Given the description of an element on the screen output the (x, y) to click on. 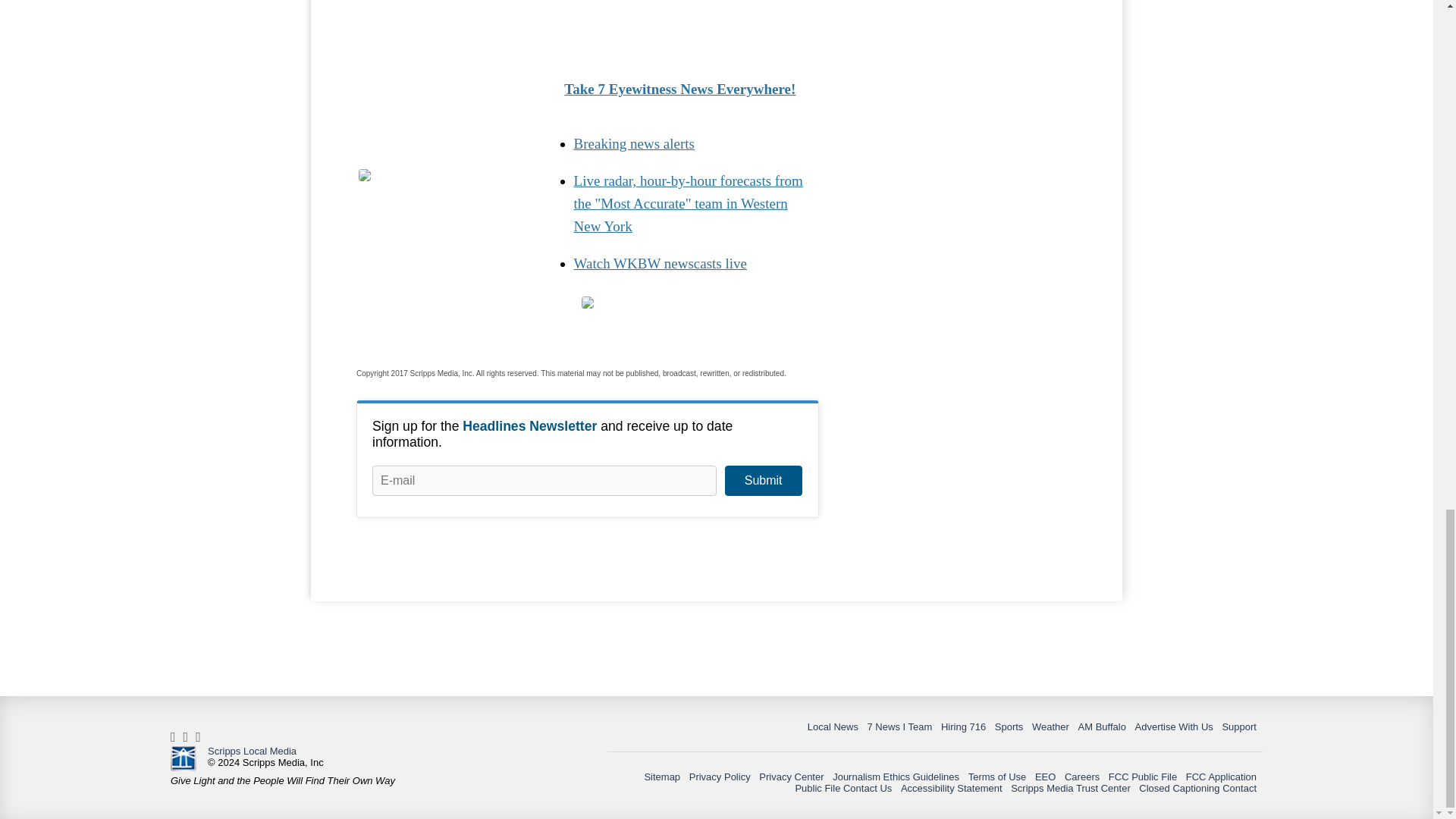
Submit (763, 481)
